Given the description of an element on the screen output the (x, y) to click on. 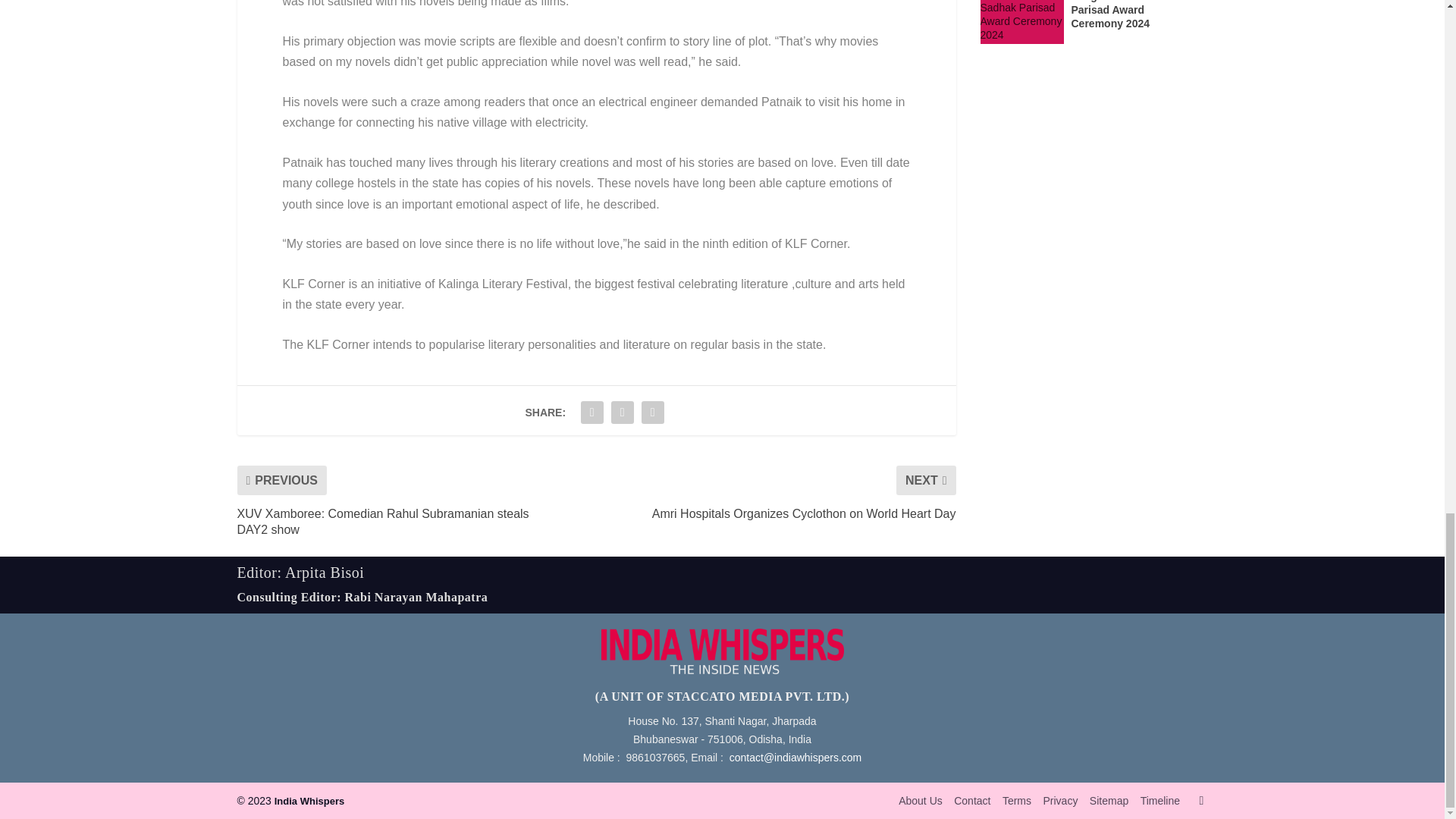
Sangeet Sadhak Parisad Award Ceremony 2024 (1020, 22)
